Given the description of an element on the screen output the (x, y) to click on. 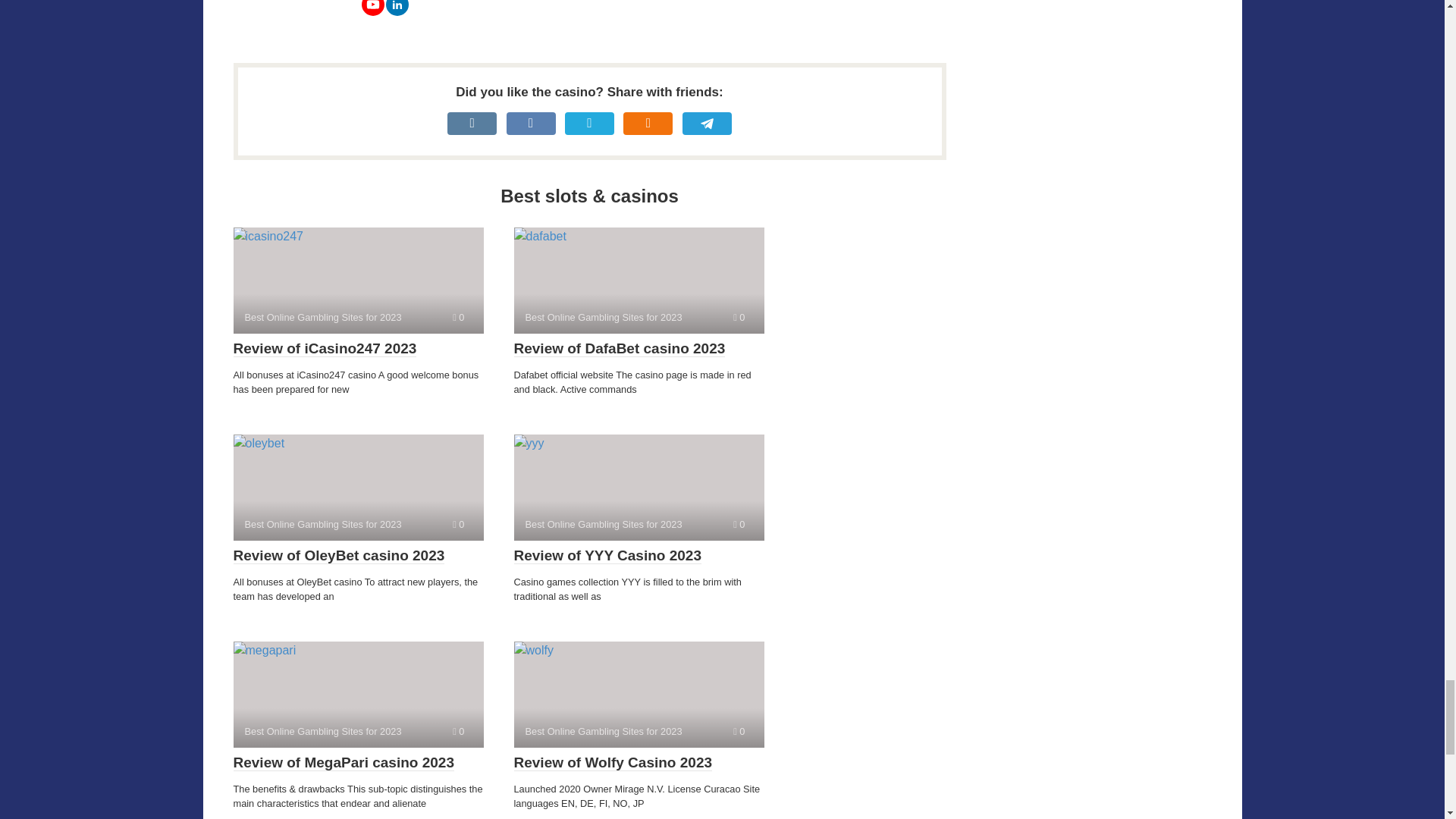
Comments (738, 317)
Comments (458, 523)
Comments (458, 731)
Comments (738, 523)
Comments (738, 731)
Comments (458, 317)
